Given the description of an element on the screen output the (x, y) to click on. 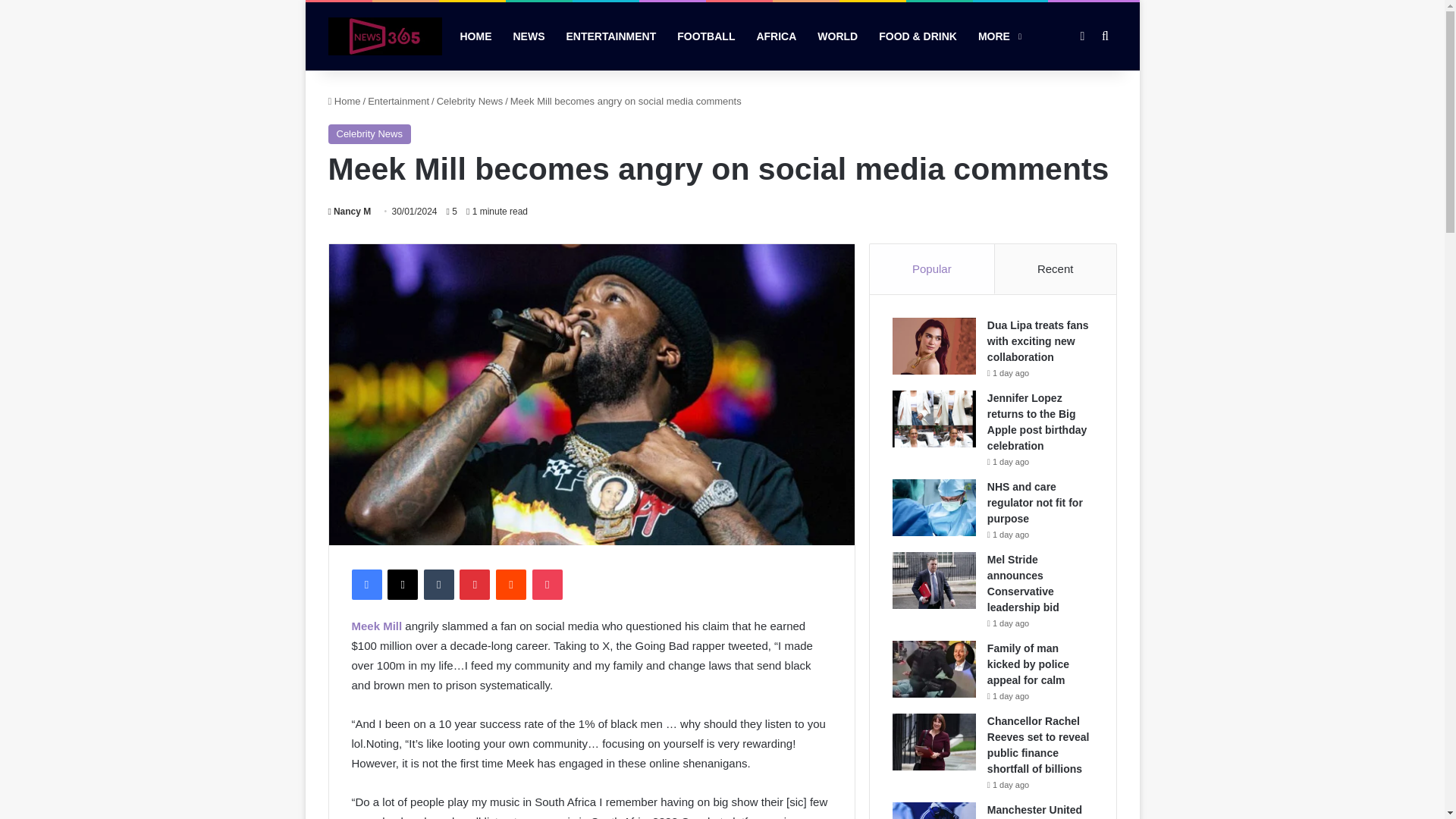
FOOTBALL (705, 36)
WORLD (836, 36)
Reddit (510, 584)
Facebook (366, 584)
Pinterest (474, 584)
News365.uk (384, 36)
Pinterest (474, 584)
Celebrity News (469, 101)
X (402, 584)
Celebrity News (368, 134)
MORE (998, 36)
ENTERTAINMENT (610, 36)
Pocket (547, 584)
Facebook (366, 584)
Nancy M (349, 211)
